Given the description of an element on the screen output the (x, y) to click on. 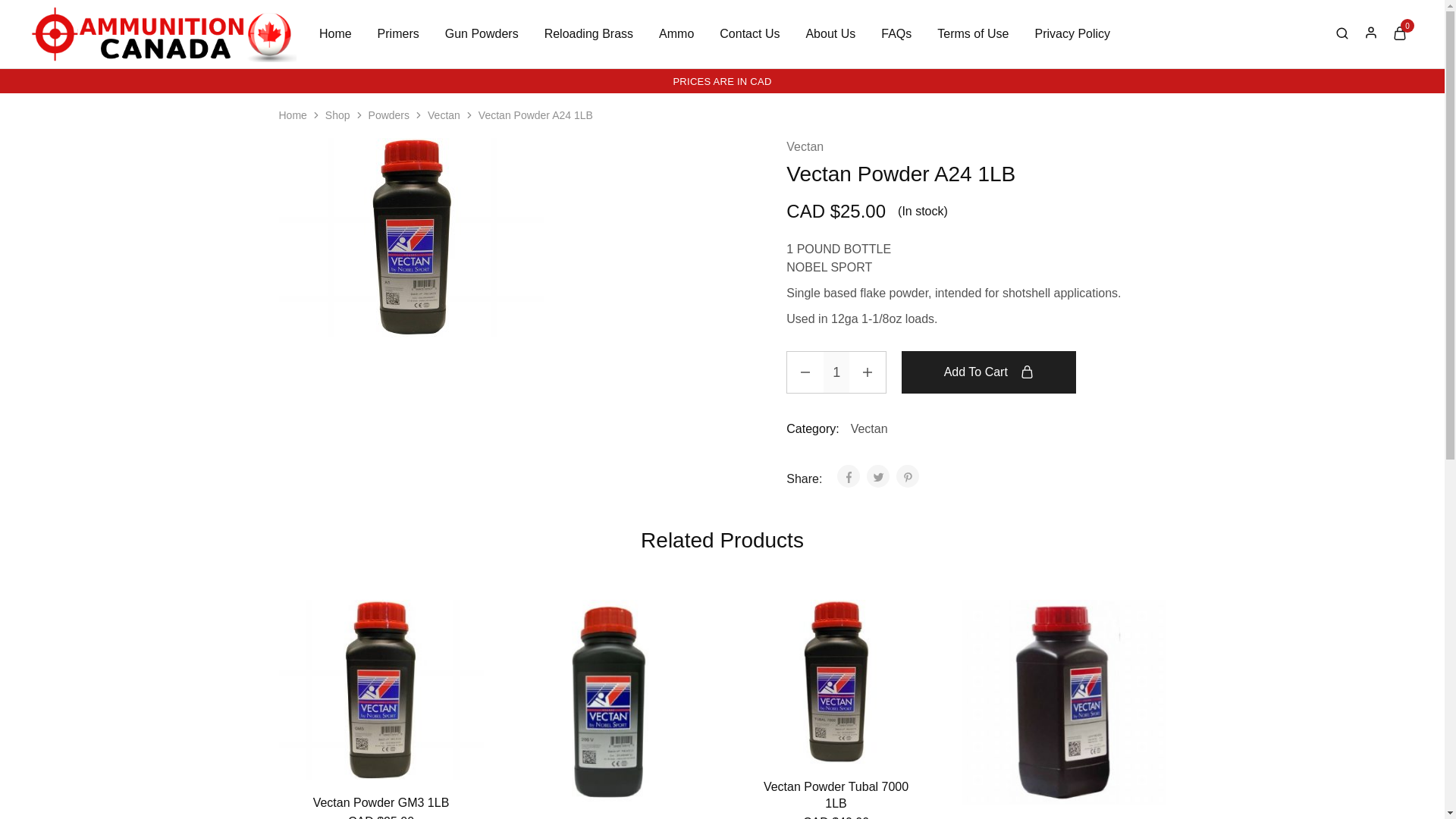
Primers (398, 33)
Reloading Brass (587, 33)
Ammo (675, 33)
About Us (830, 33)
FAQs (896, 33)
Gun Powders (481, 33)
Contact Us (749, 33)
Home (335, 33)
vectan-powder-a1 (411, 237)
Privacy Policy (1072, 33)
Ammunition Canada Shop (62, 51)
Terms of Use (972, 33)
